Given the description of an element on the screen output the (x, y) to click on. 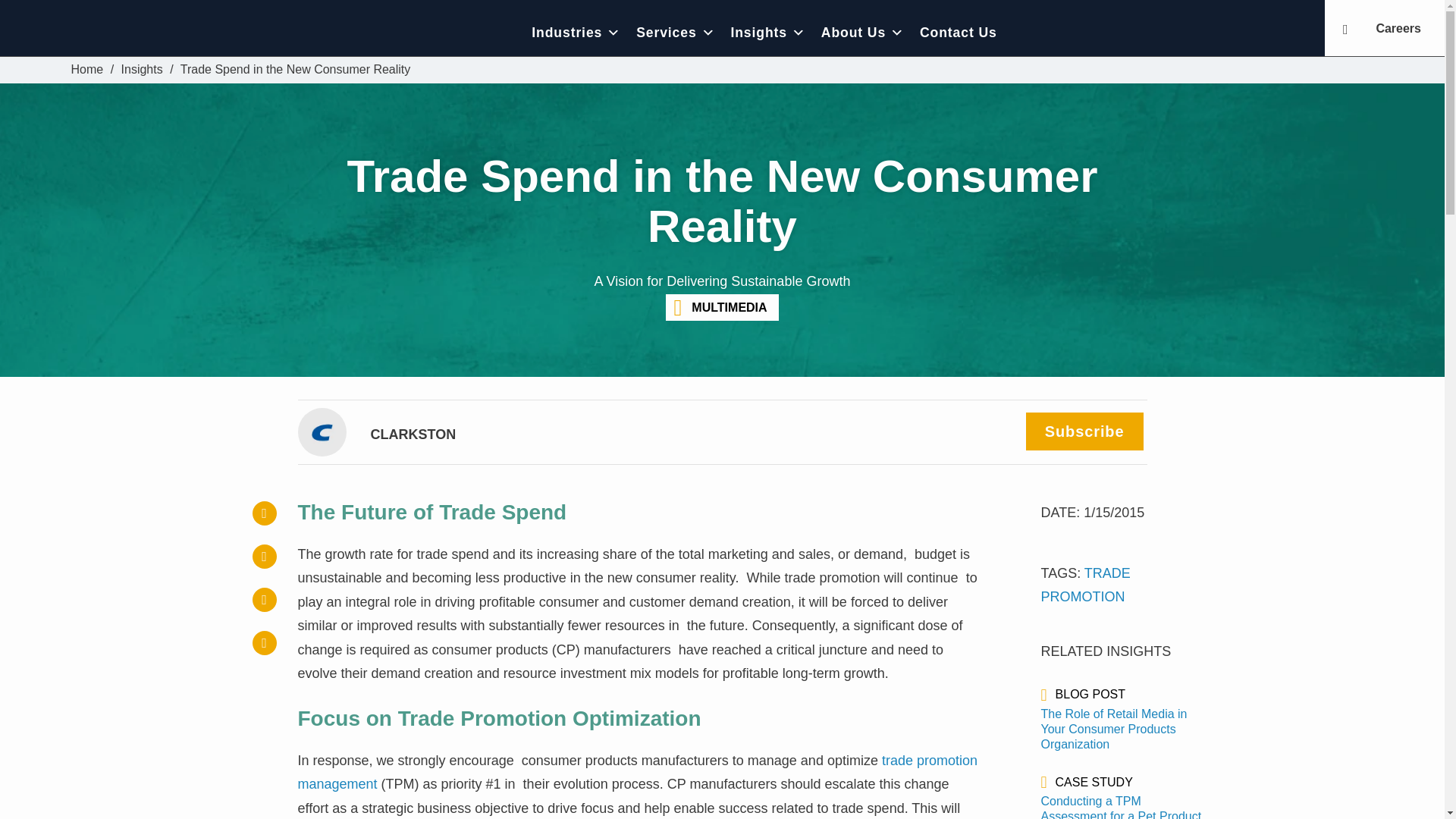
Clarkston Consulting (176, 31)
Insights (141, 69)
Clarkston Consulting (87, 69)
Services (675, 32)
Industries (576, 32)
